Given the description of an element on the screen output the (x, y) to click on. 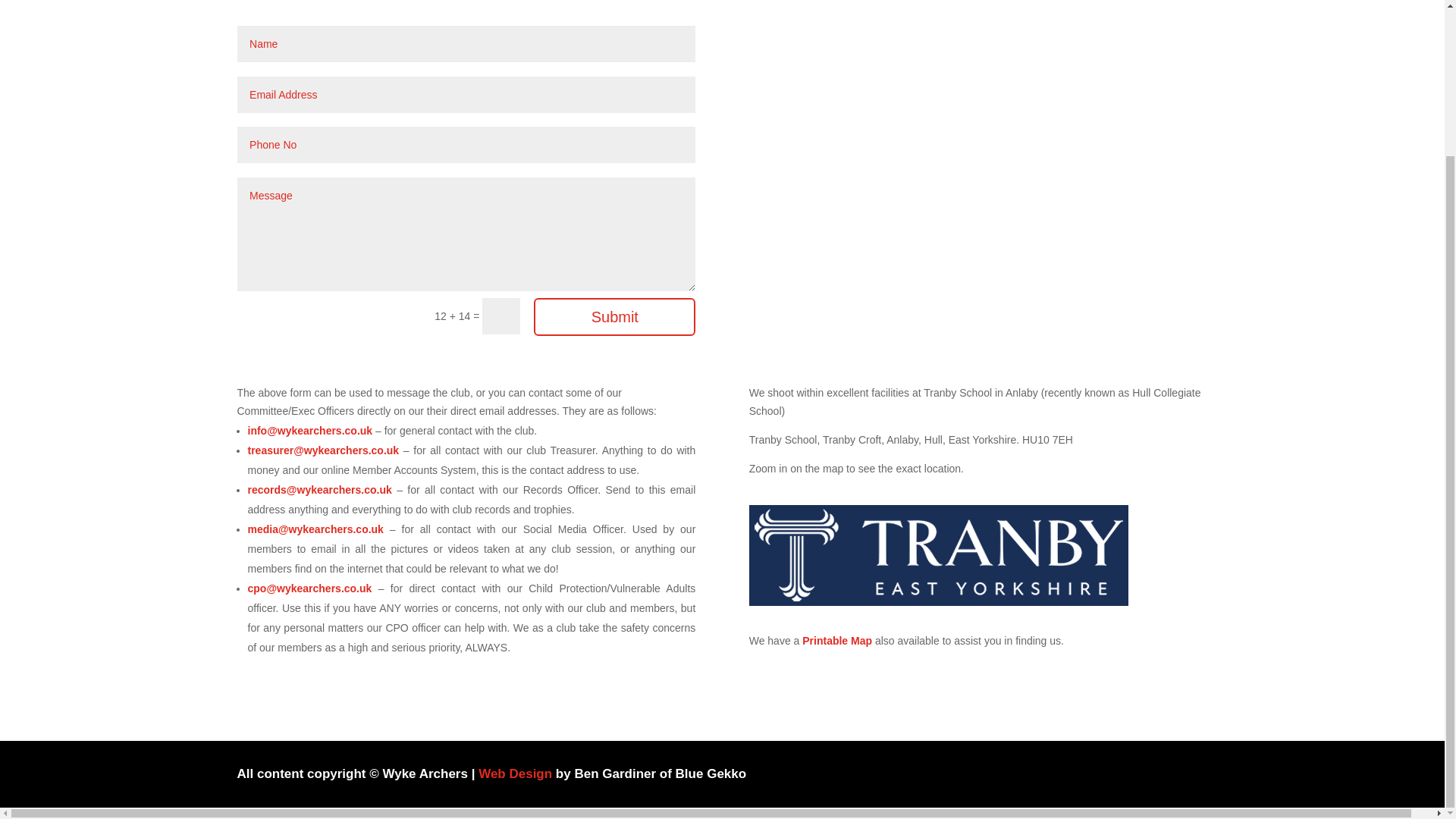
Printable Map (837, 640)
Tranby Contact Us Logo (938, 555)
Submit (614, 316)
Web Design (515, 773)
